Given the description of an element on the screen output the (x, y) to click on. 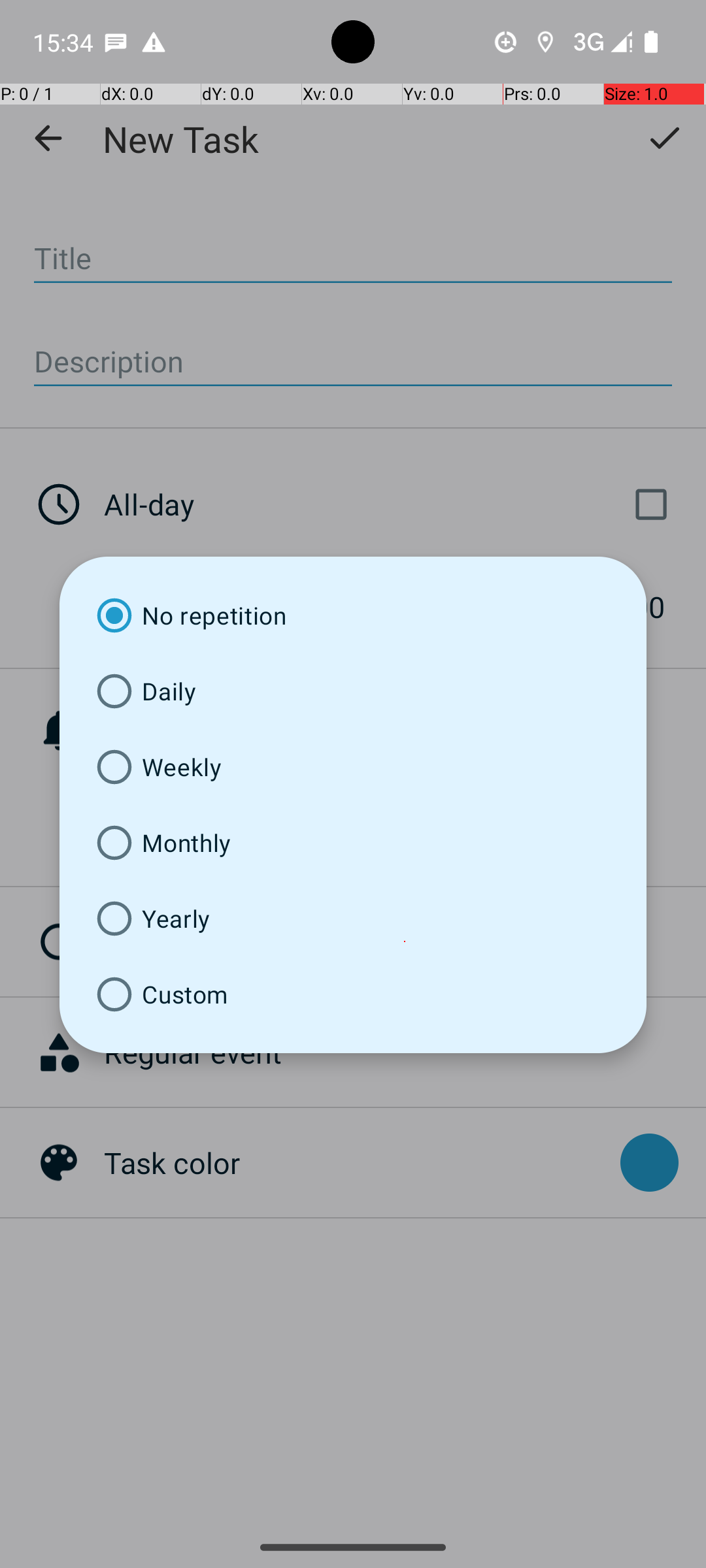
Daily Element type: android.widget.RadioButton (352, 691)
Weekly Element type: android.widget.RadioButton (352, 766)
Monthly Element type: android.widget.RadioButton (352, 842)
Yearly Element type: android.widget.RadioButton (352, 918)
Custom Element type: android.widget.RadioButton (352, 994)
